Given the description of an element on the screen output the (x, y) to click on. 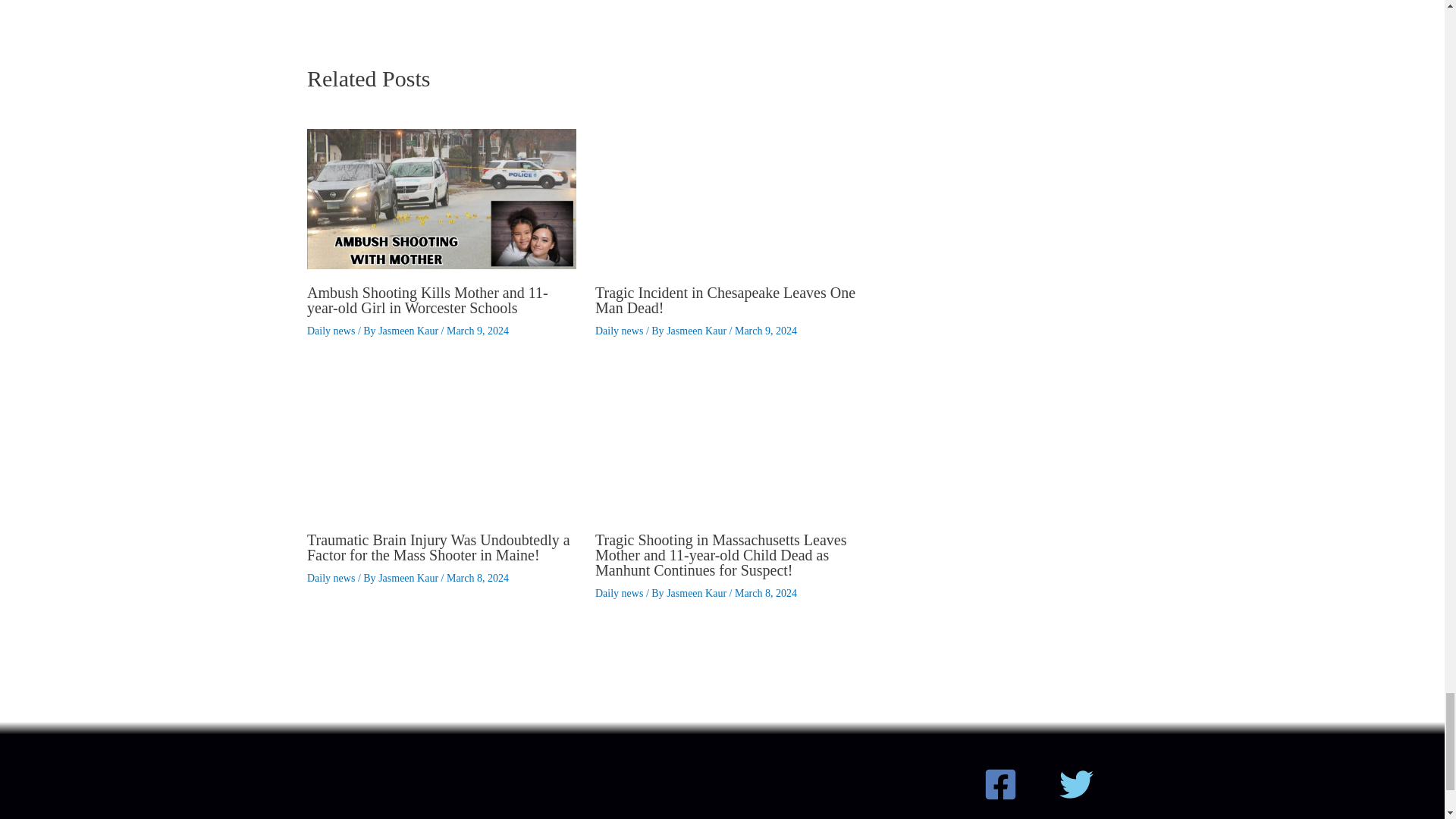
View all posts by Jasmeen Kaur (697, 330)
View all posts by Jasmeen Kaur (697, 593)
Daily news (619, 330)
Tragic Incident in Chesapeake Leaves One Man Dead! (725, 300)
View all posts by Jasmeen Kaur (409, 577)
Jasmeen Kaur (409, 330)
View all posts by Jasmeen Kaur (409, 330)
Daily news (331, 330)
